Given the description of an element on the screen output the (x, y) to click on. 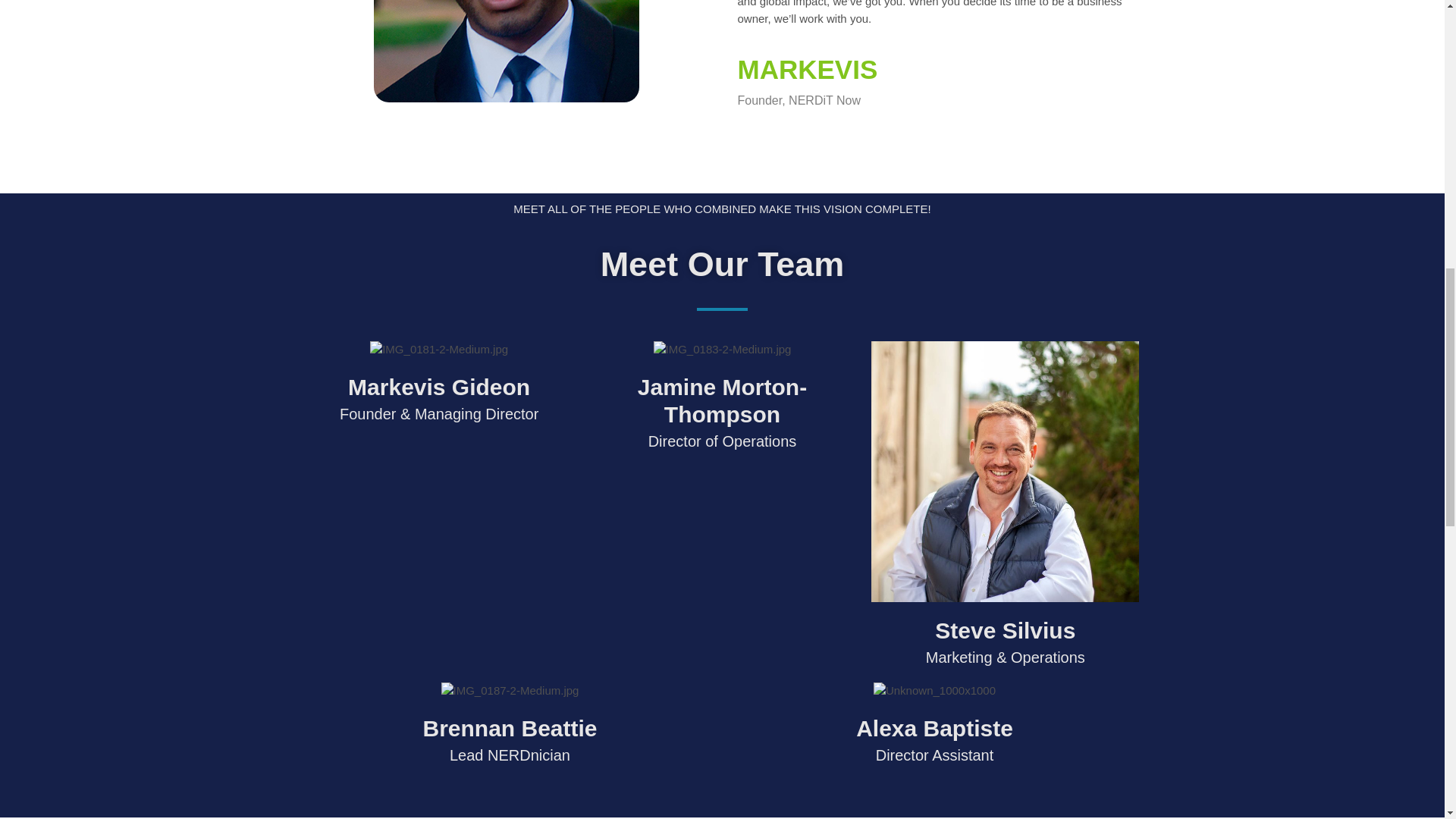
Meet Our Team (722, 264)
Founder, NERDiT Now (937, 103)
Director of Operations (722, 446)
Director Assistant (933, 760)
Brennan Beattie (509, 728)
Steve Silvius (1004, 630)
Jamine Morton-Thompson (722, 400)
Markevis Gideon (438, 387)
MARKEVIS (937, 69)
